Given the description of an element on the screen output the (x, y) to click on. 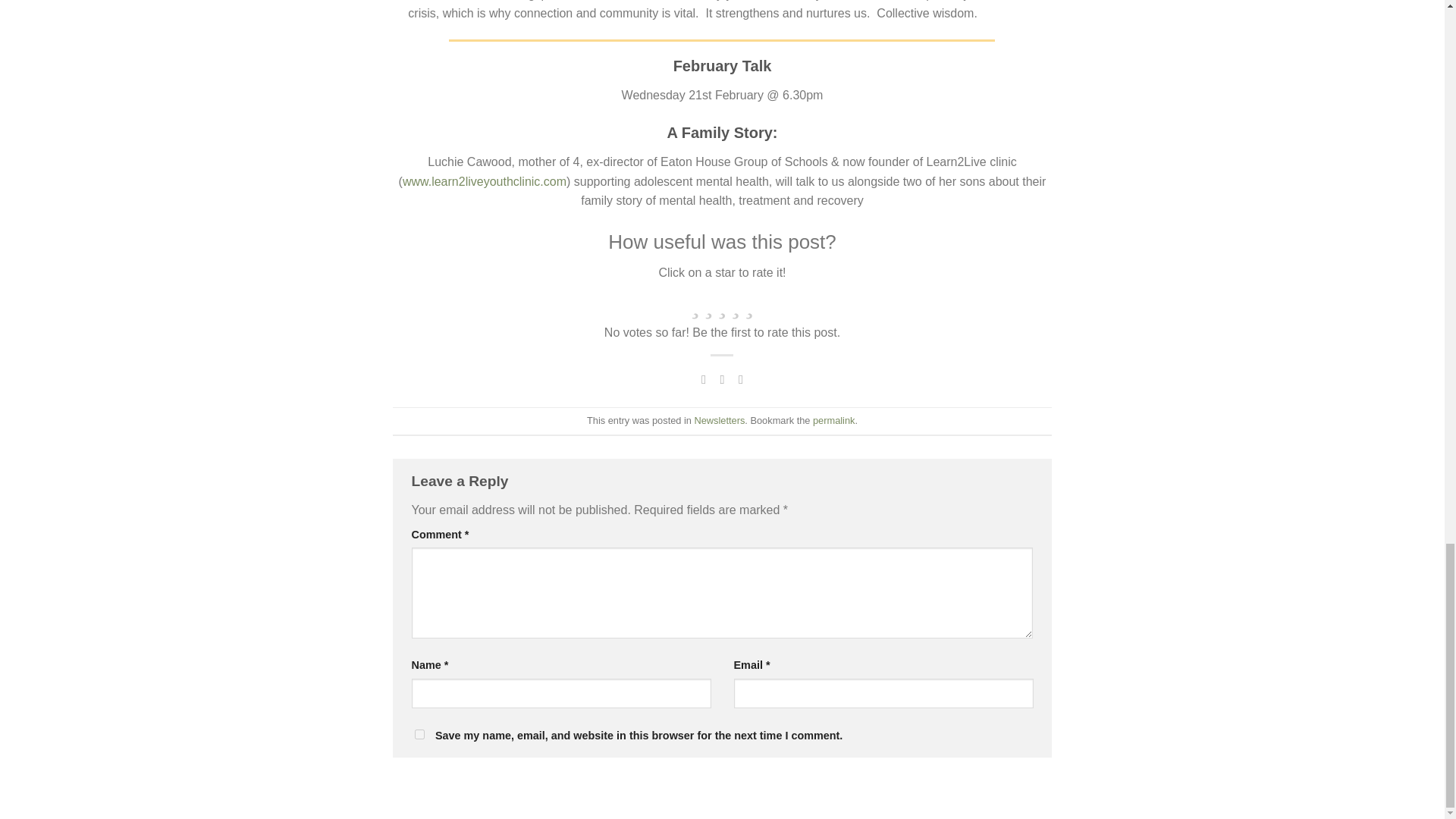
Permalink to February 2024 Newsletter (833, 419)
Newsletters (719, 419)
www.learn2liveyouthclinic.com (484, 181)
yes (418, 734)
permalink (833, 419)
